Given the description of an element on the screen output the (x, y) to click on. 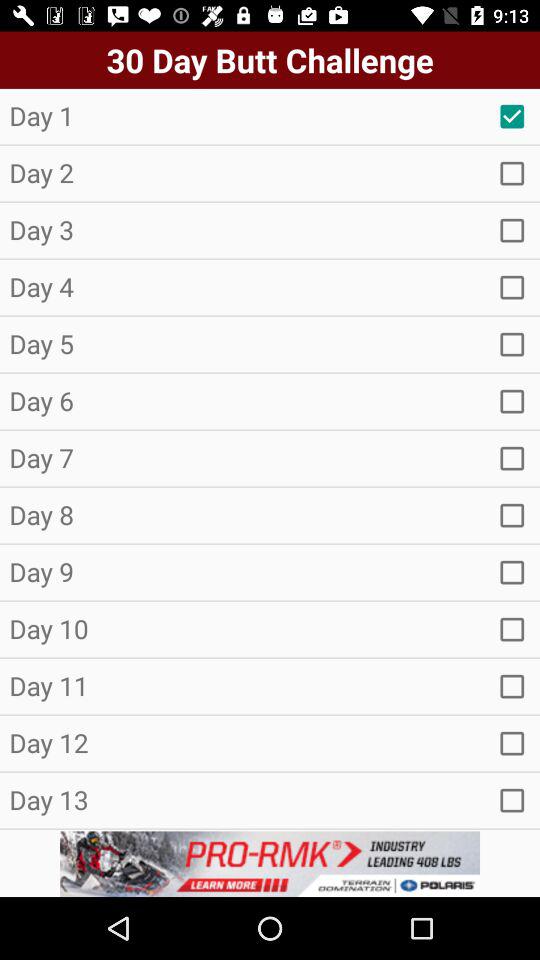
day 9 checkbox (512, 572)
